Given the description of an element on the screen output the (x, y) to click on. 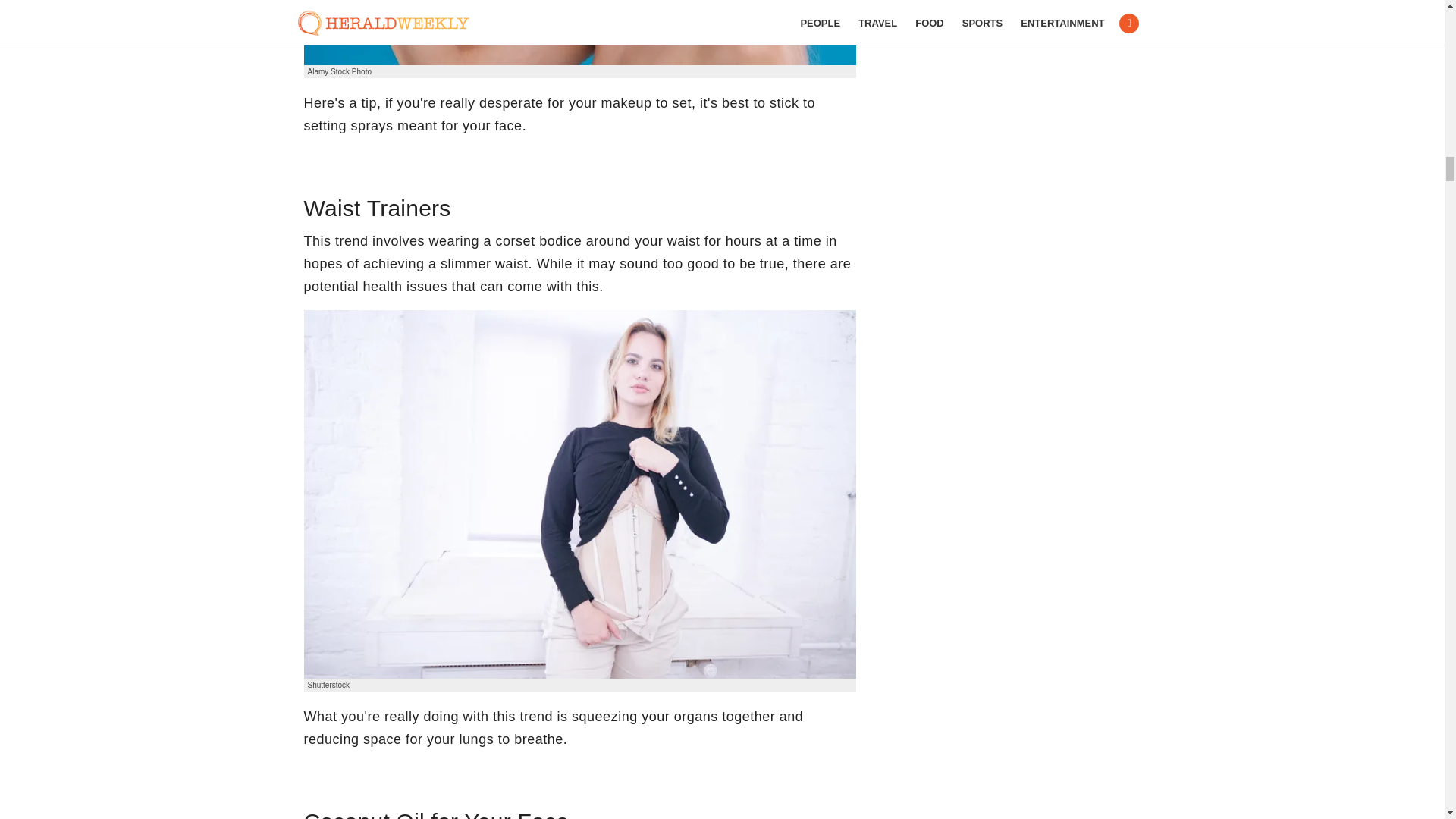
Hairspray to Set Your Makeup (579, 32)
